Given the description of an element on the screen output the (x, y) to click on. 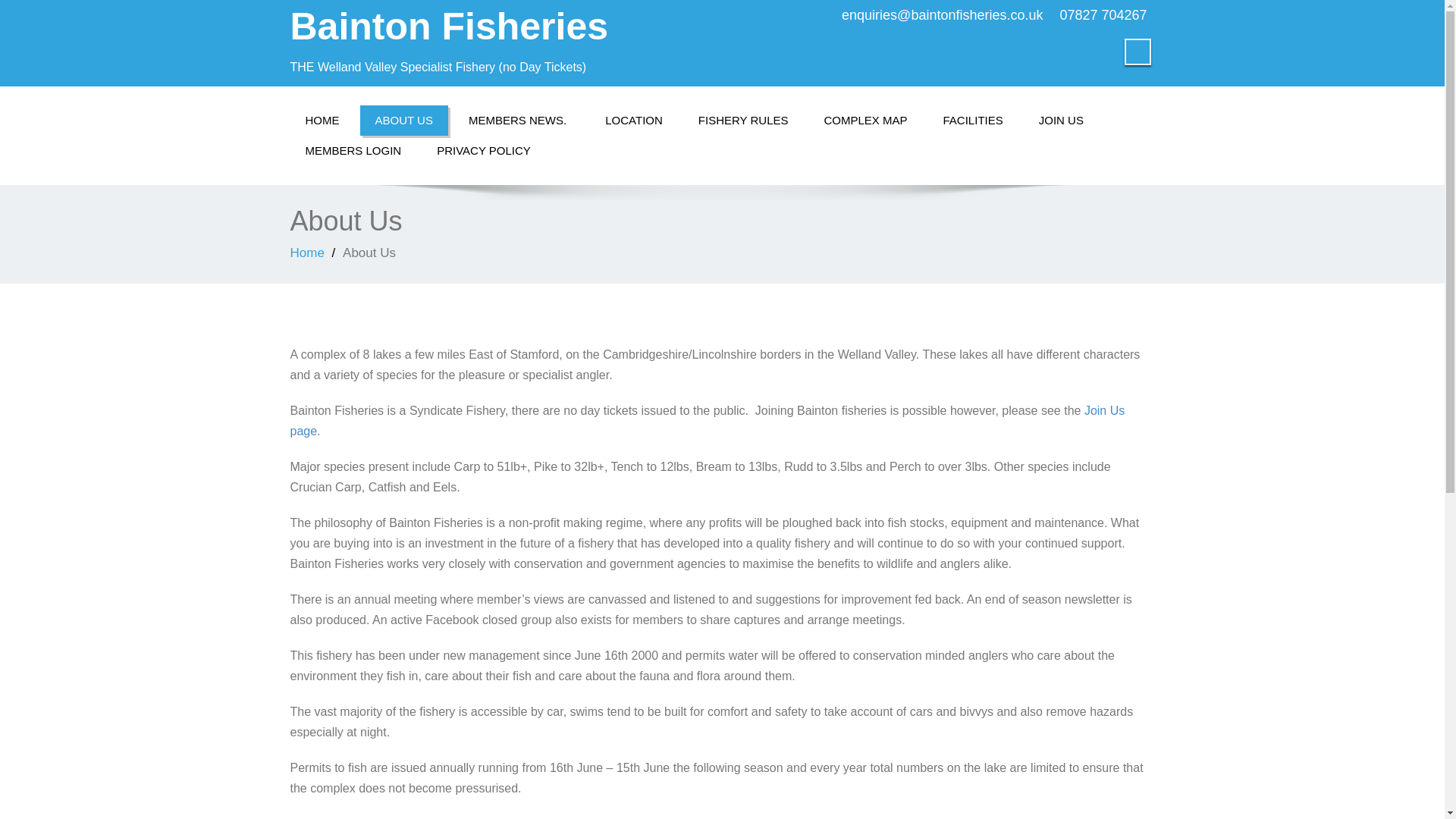
COMPLEX MAP (864, 120)
Bainton Fisheries (448, 25)
HOME (321, 120)
FISHERY RULES (742, 120)
Bainton Fisheries (448, 25)
PRIVACY POLICY (484, 150)
JOIN US (1061, 120)
Home (306, 252)
07827 704267 (1103, 14)
MEMBERS LOGIN (352, 150)
MEMBERS NEWS.  (518, 120)
LOCATION (633, 120)
Join Us page (706, 420)
FACILITIES (972, 120)
ABOUT US (402, 120)
